Given the description of an element on the screen output the (x, y) to click on. 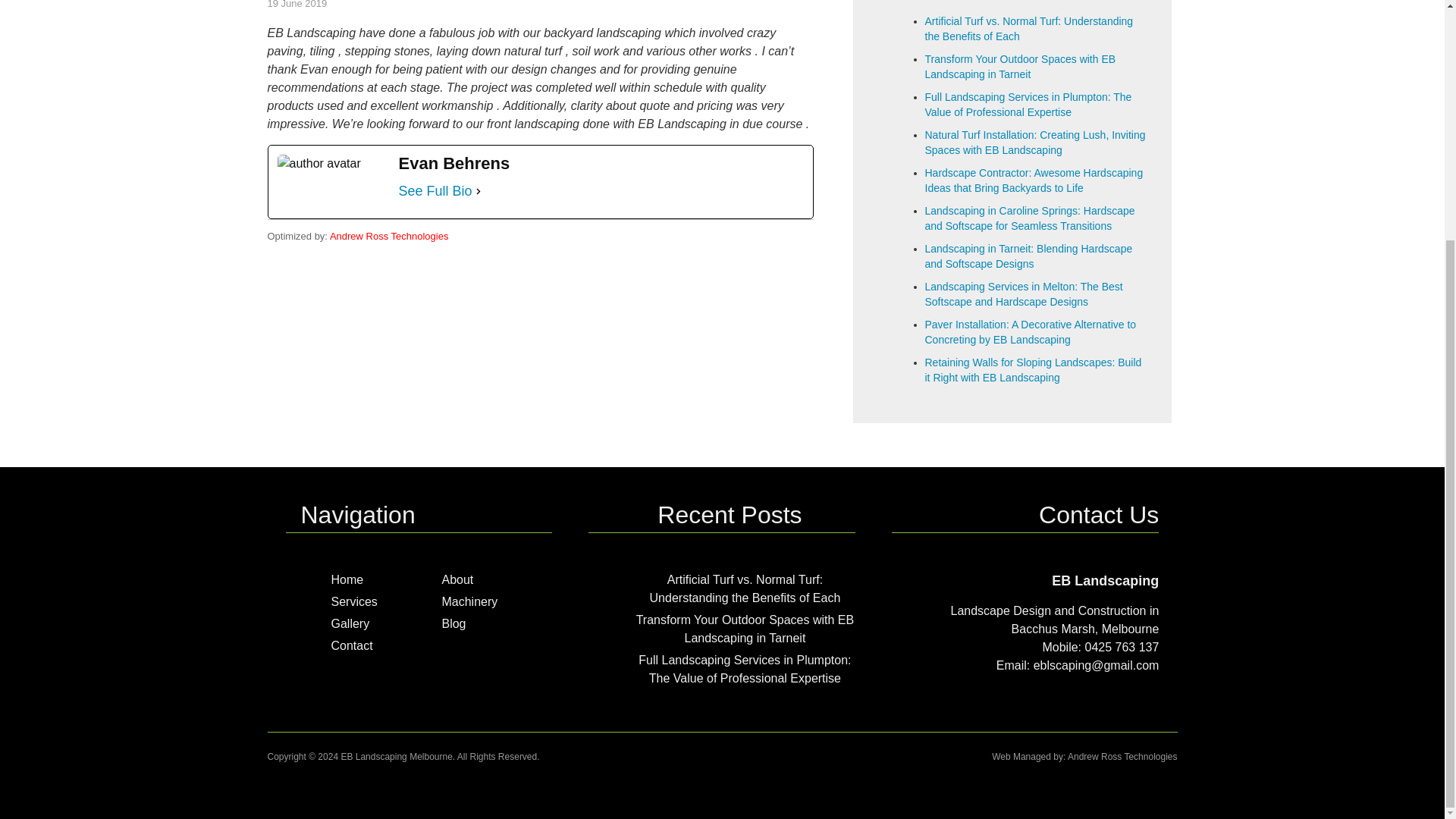
Transform Your Outdoor Spaces with EB Landscaping in Tarneit (1020, 66)
Andrew Ross Technologies (389, 235)
Machinery (469, 601)
See Full Bio (434, 190)
Blog (453, 623)
Services (353, 601)
